Given the description of an element on the screen output the (x, y) to click on. 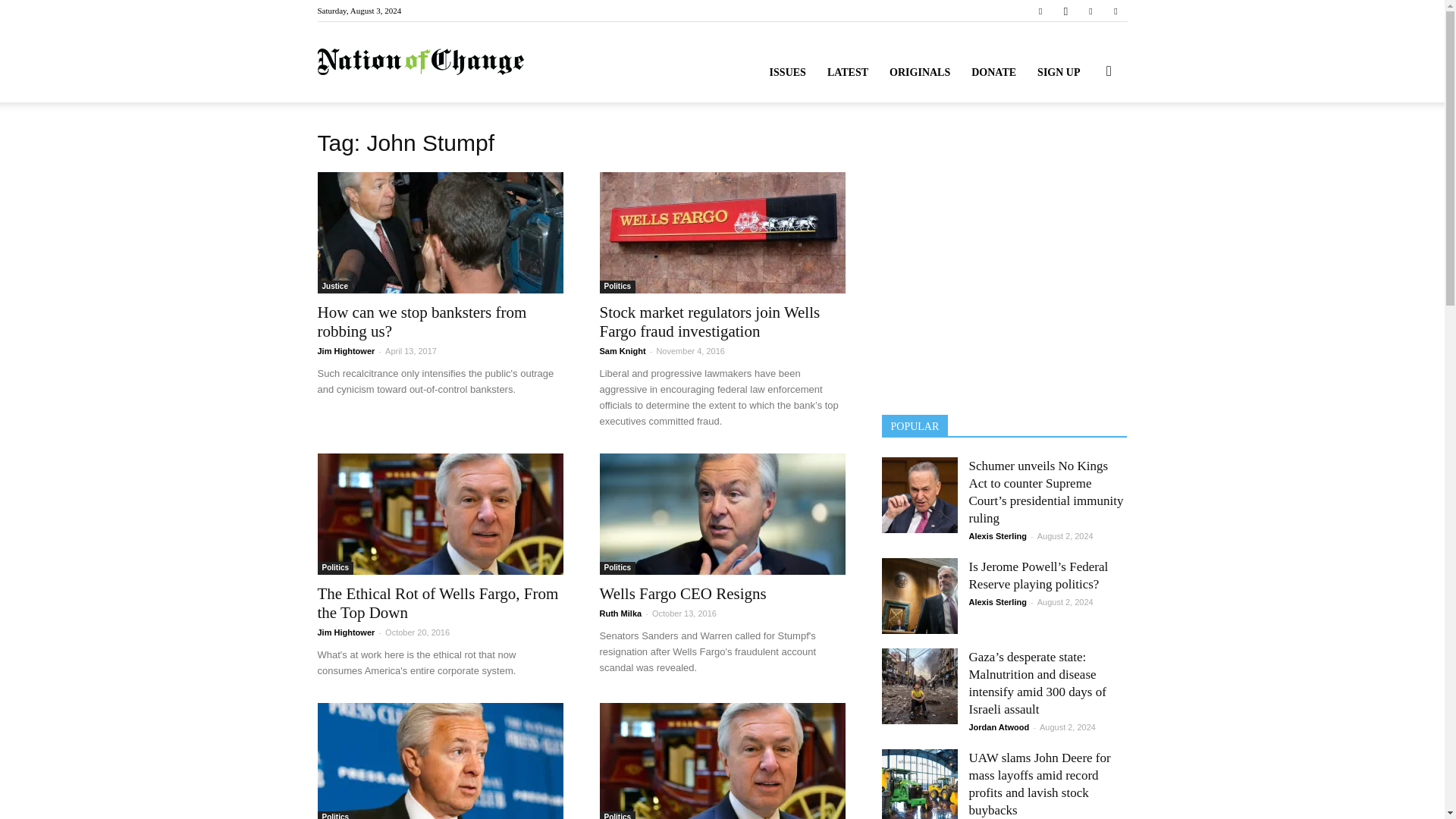
Instagram (1065, 10)
Stock market regulators join Wells Fargo fraud investigation (721, 232)
Twitter (1090, 10)
How can we stop banksters from robbing us? (439, 232)
How can we stop banksters from robbing us? (421, 321)
ISSUES (787, 72)
Youtube (1114, 10)
Facebook (1040, 10)
NationofChange (419, 61)
